Given the description of an element on the screen output the (x, y) to click on. 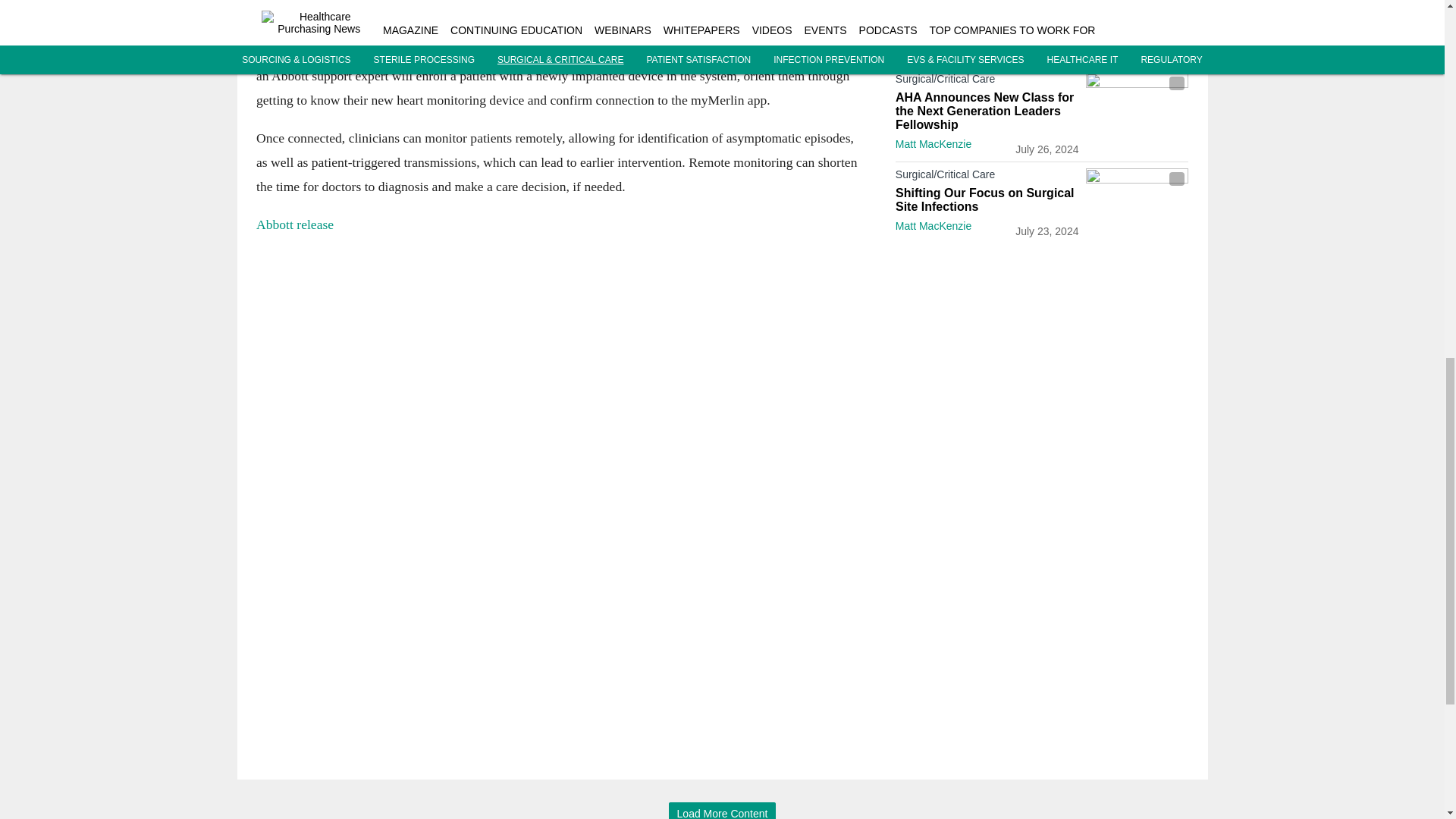
Abbott release (294, 223)
Matt MacKenzie (933, 48)
